Given the description of an element on the screen output the (x, y) to click on. 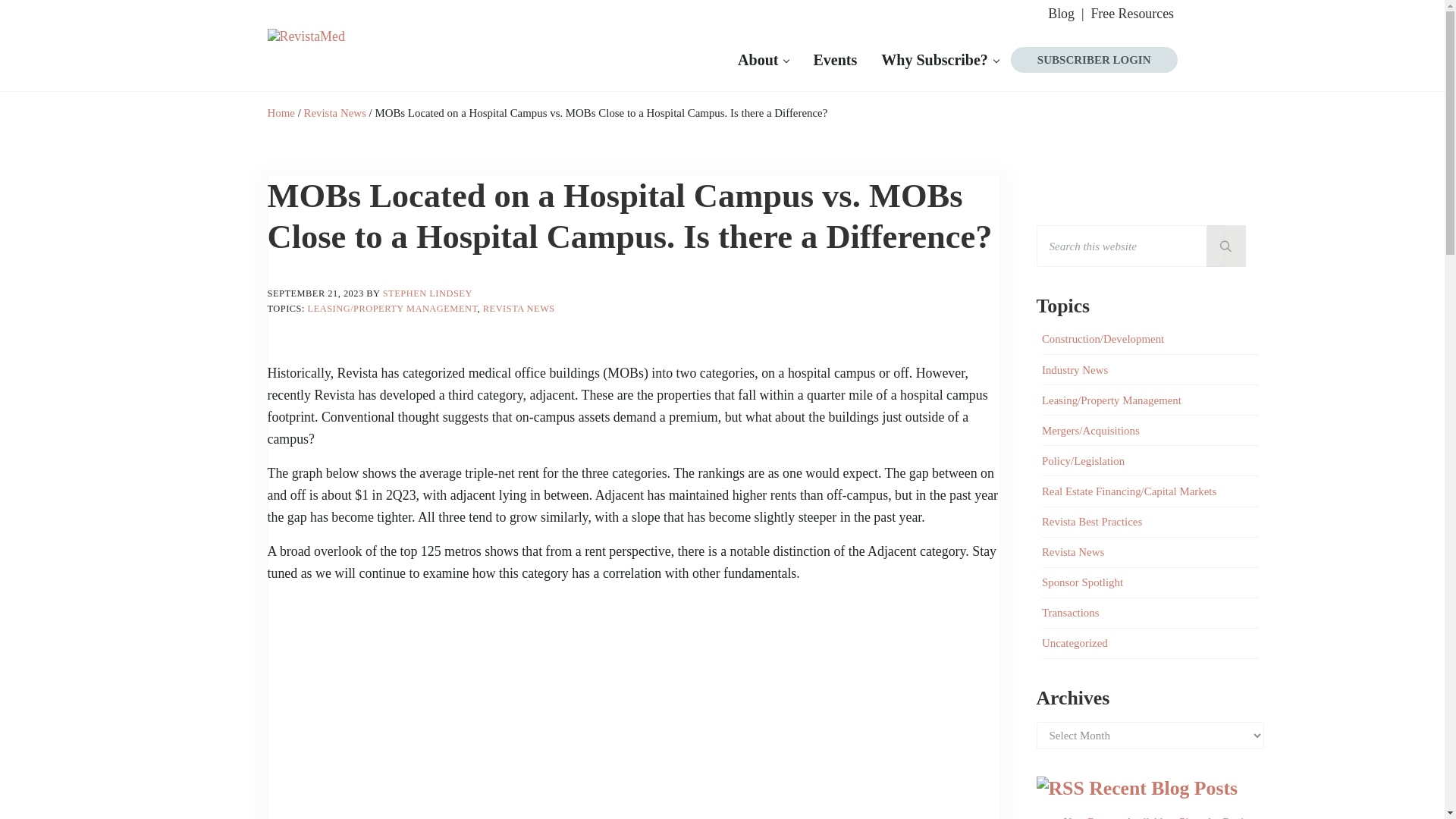
STEPHEN LINDSEY (426, 293)
Industry News (1075, 369)
Home (280, 112)
About (762, 59)
Events (834, 59)
Free Resources (1132, 14)
SUBSCRIBER LOGIN (1093, 59)
Blog (1066, 14)
REVISTA NEWS (518, 308)
